Given the description of an element on the screen output the (x, y) to click on. 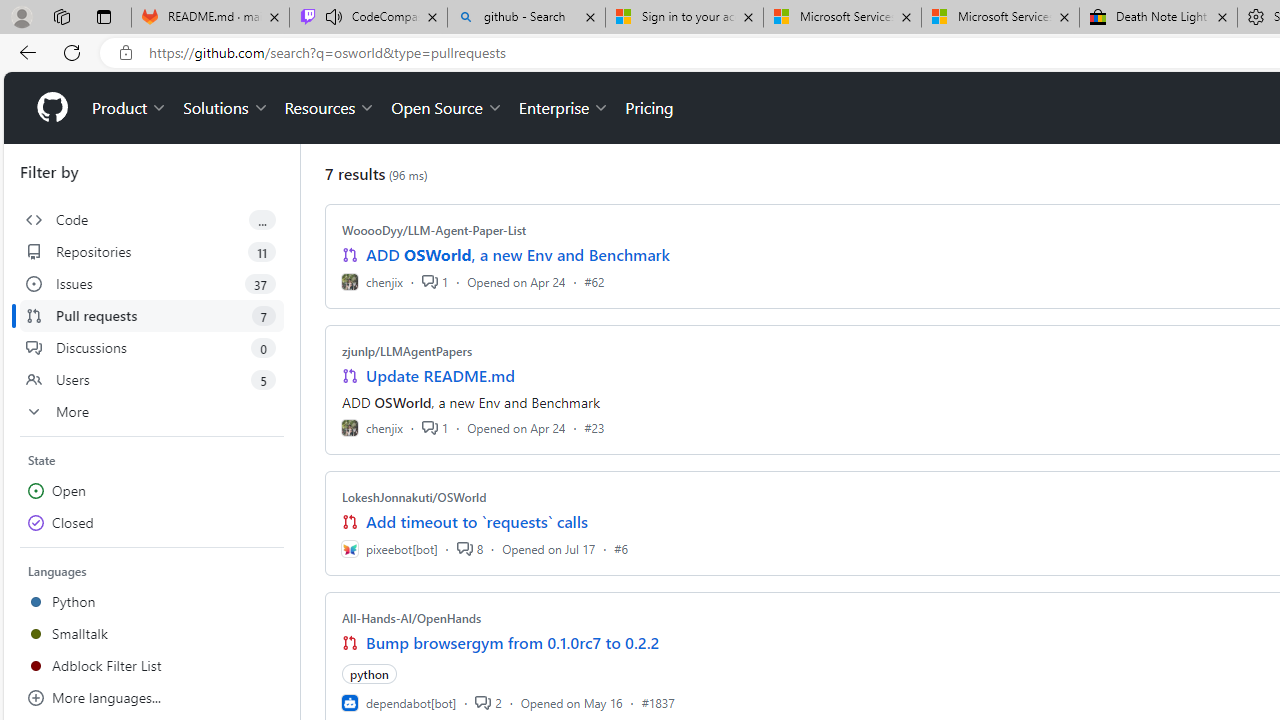
#1837 (657, 702)
More (152, 411)
Add timeout to `requests` calls (476, 521)
WooooDyy/LLM-Agent-Paper-List (434, 230)
#62 (594, 281)
#23 (594, 427)
